Given the description of an element on the screen output the (x, y) to click on. 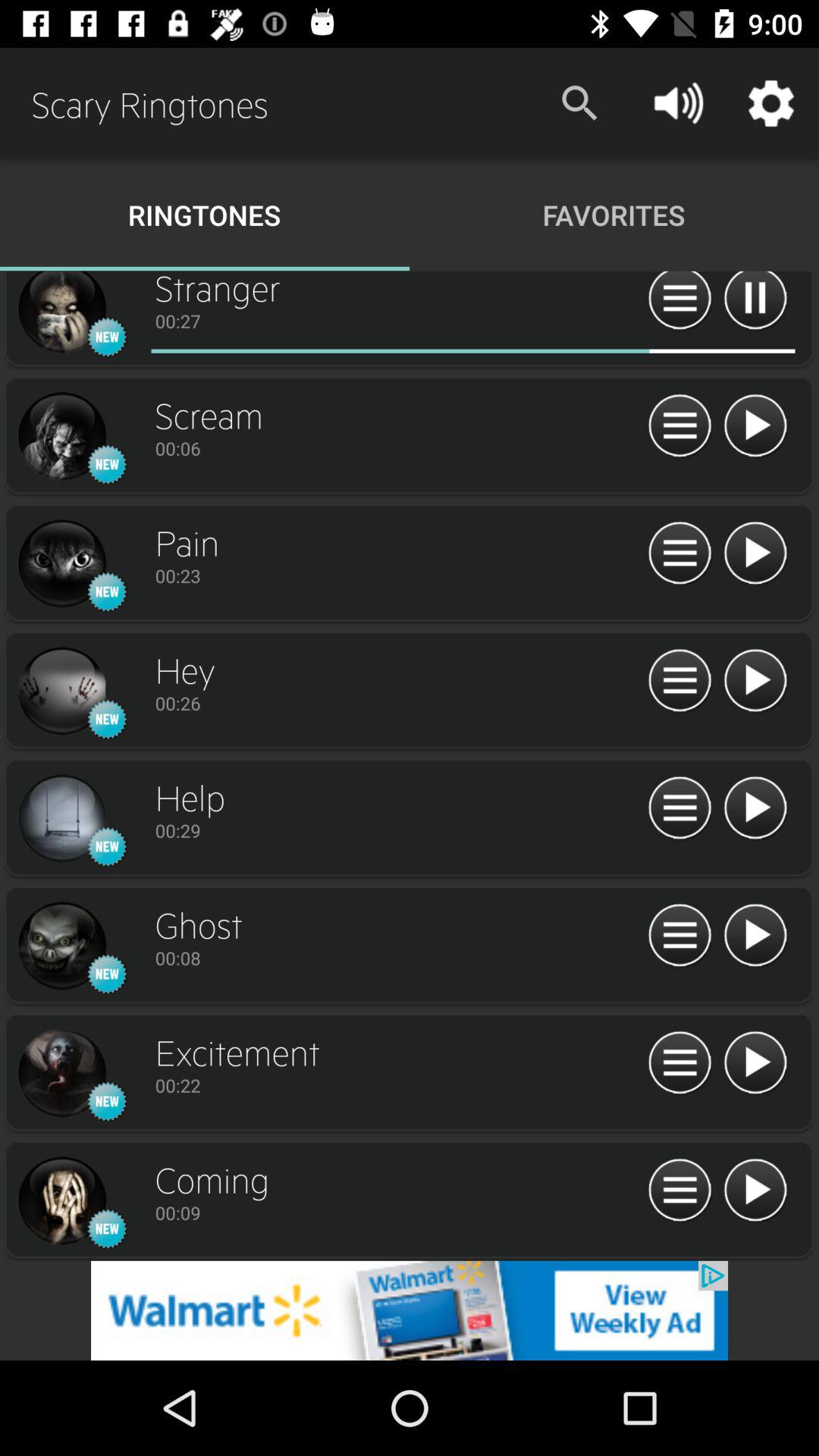
play ghost ringtone (755, 935)
